Given the description of an element on the screen output the (x, y) to click on. 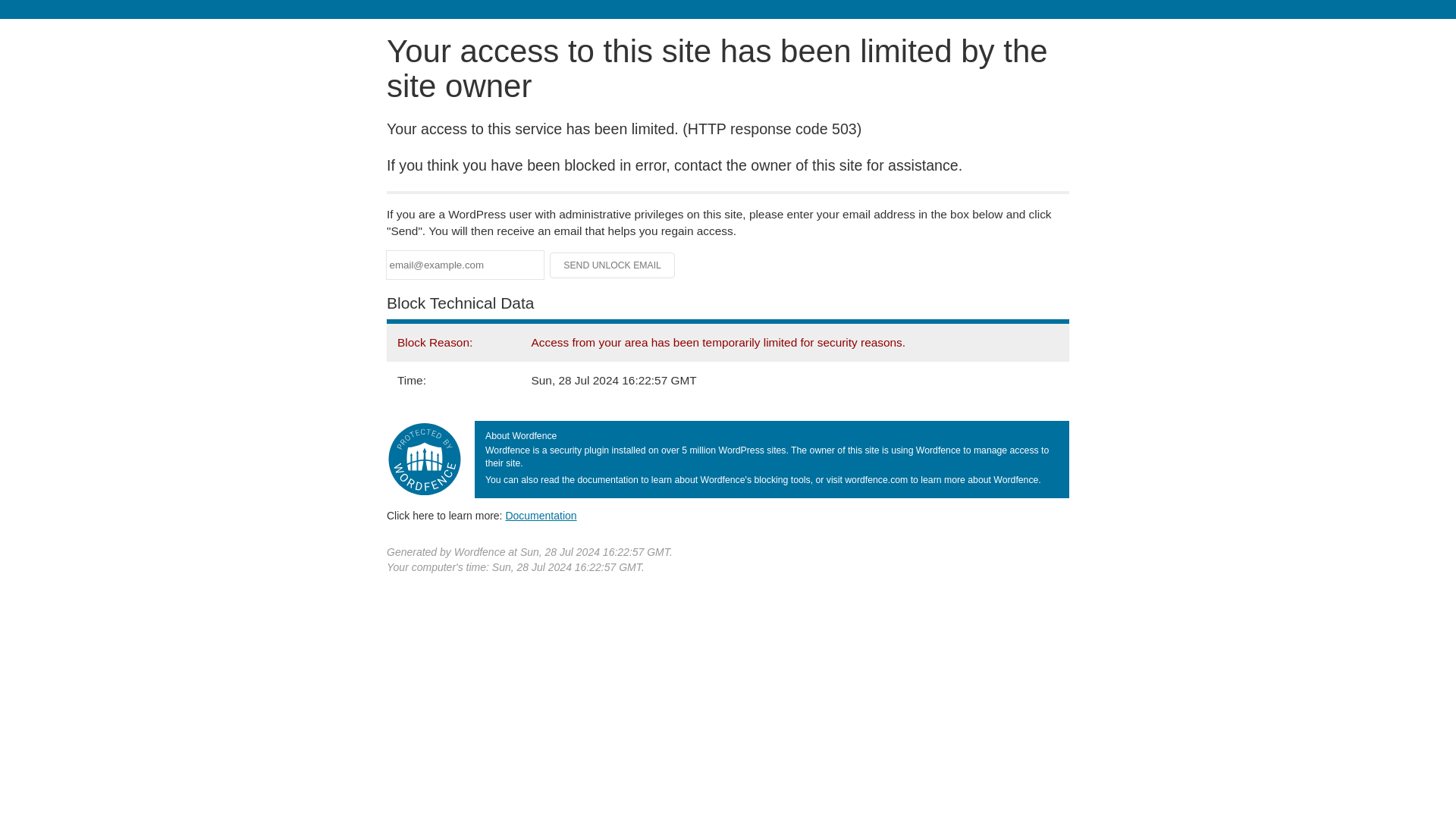
Documentation (540, 515)
Send Unlock Email (612, 265)
Send Unlock Email (612, 265)
